Given the description of an element on the screen output the (x, y) to click on. 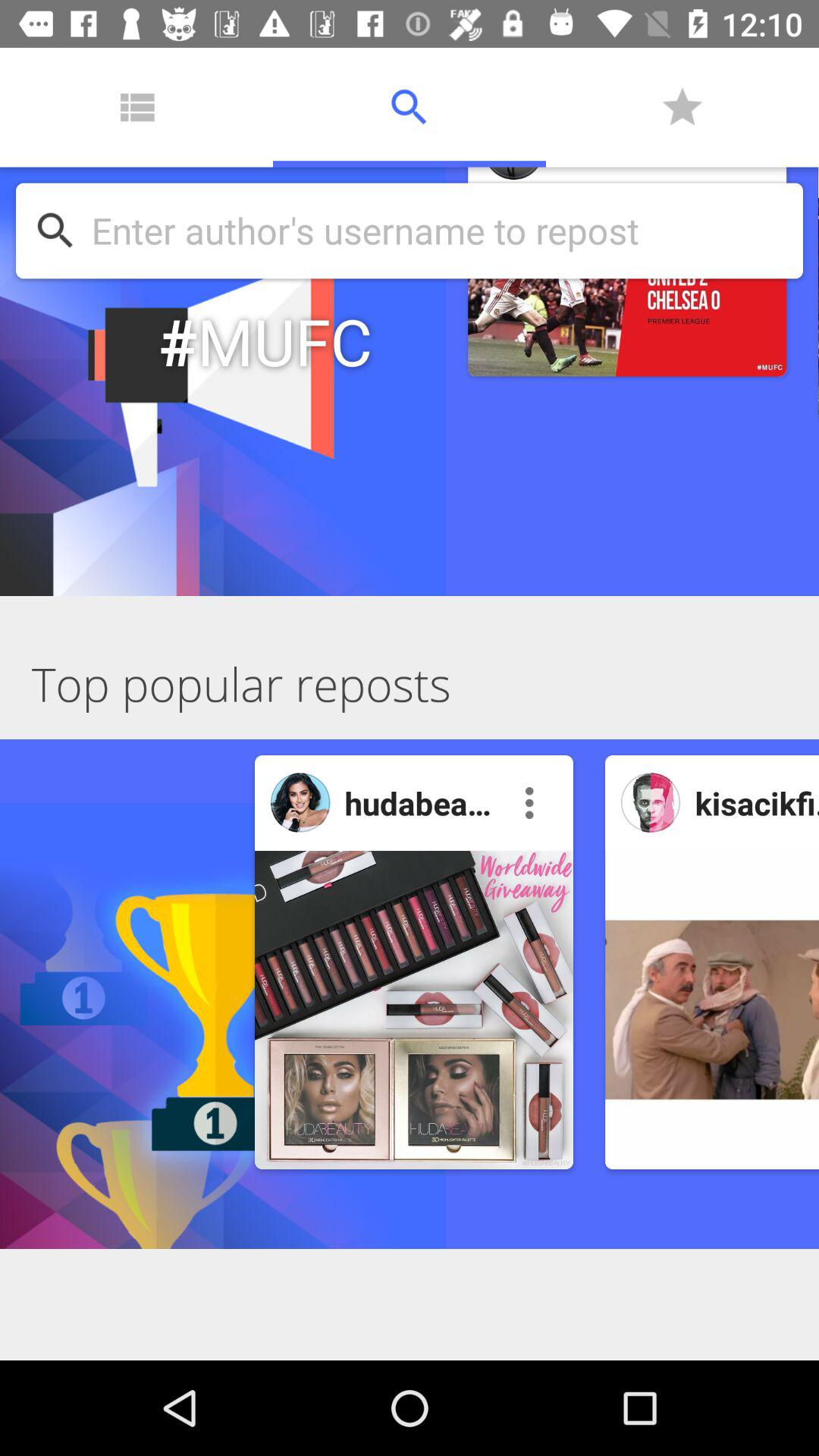
open (712, 1009)
